Given the description of an element on the screen output the (x, y) to click on. 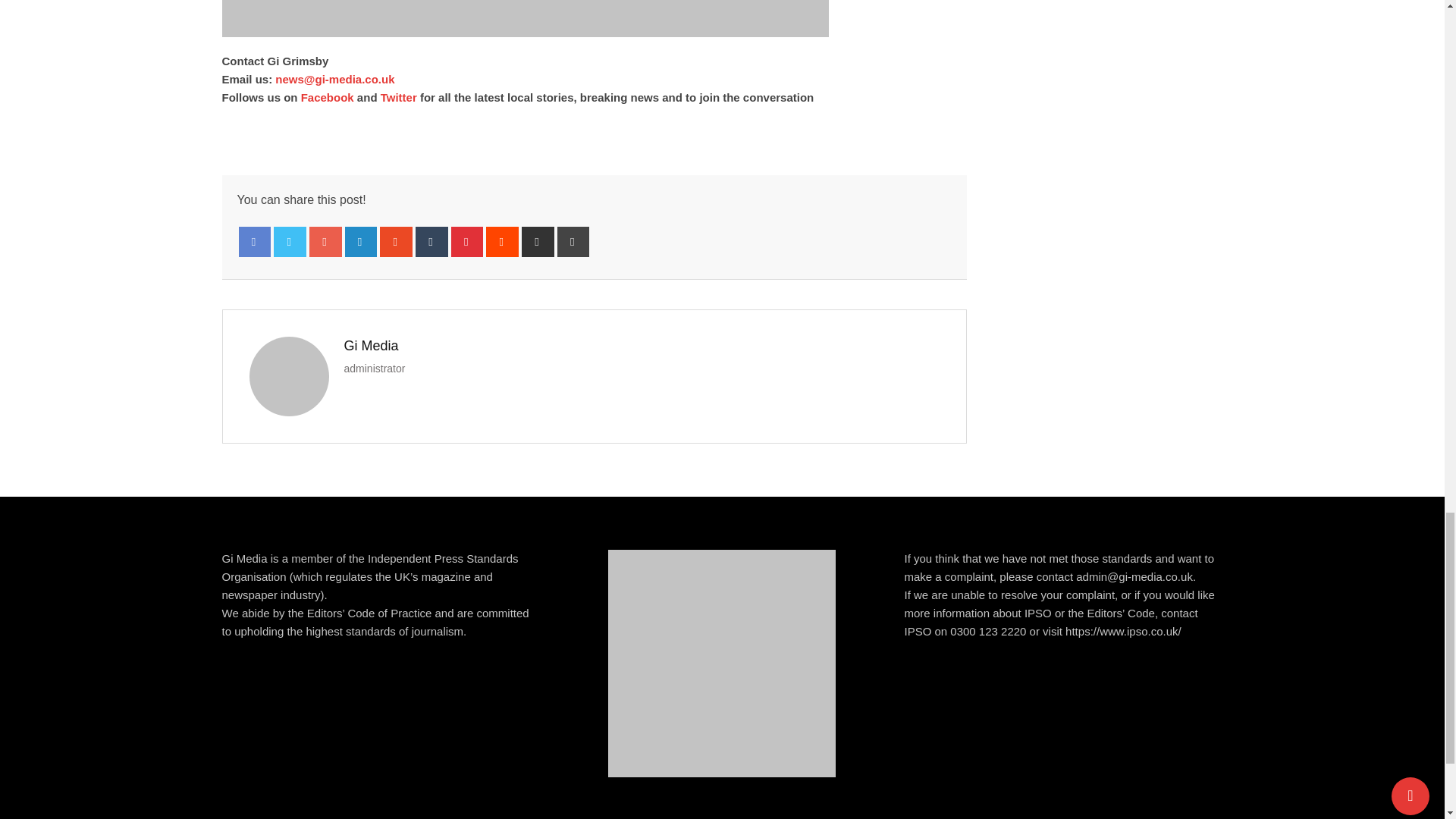
Posts by Gi Media (370, 345)
